Given the description of an element on the screen output the (x, y) to click on. 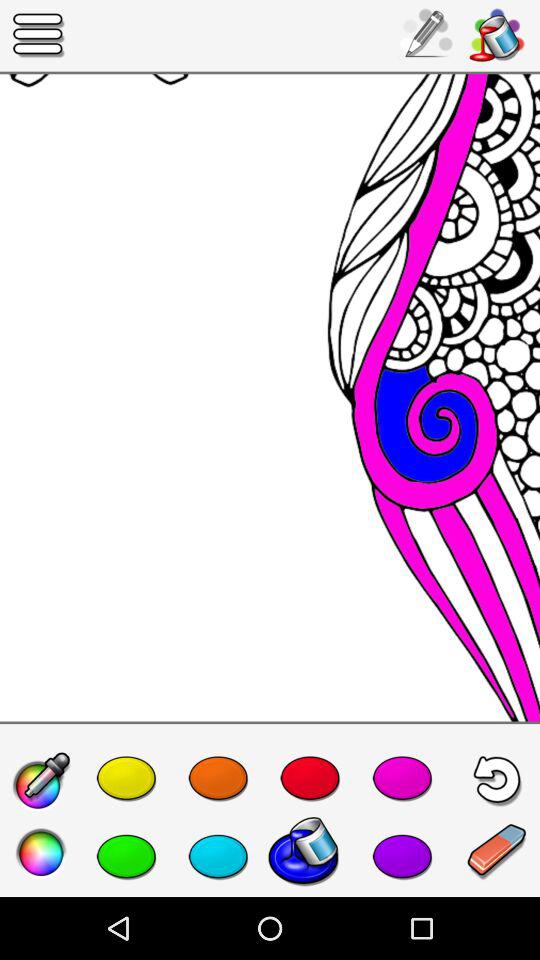
tap the icon at the center (270, 397)
